Given the description of an element on the screen output the (x, y) to click on. 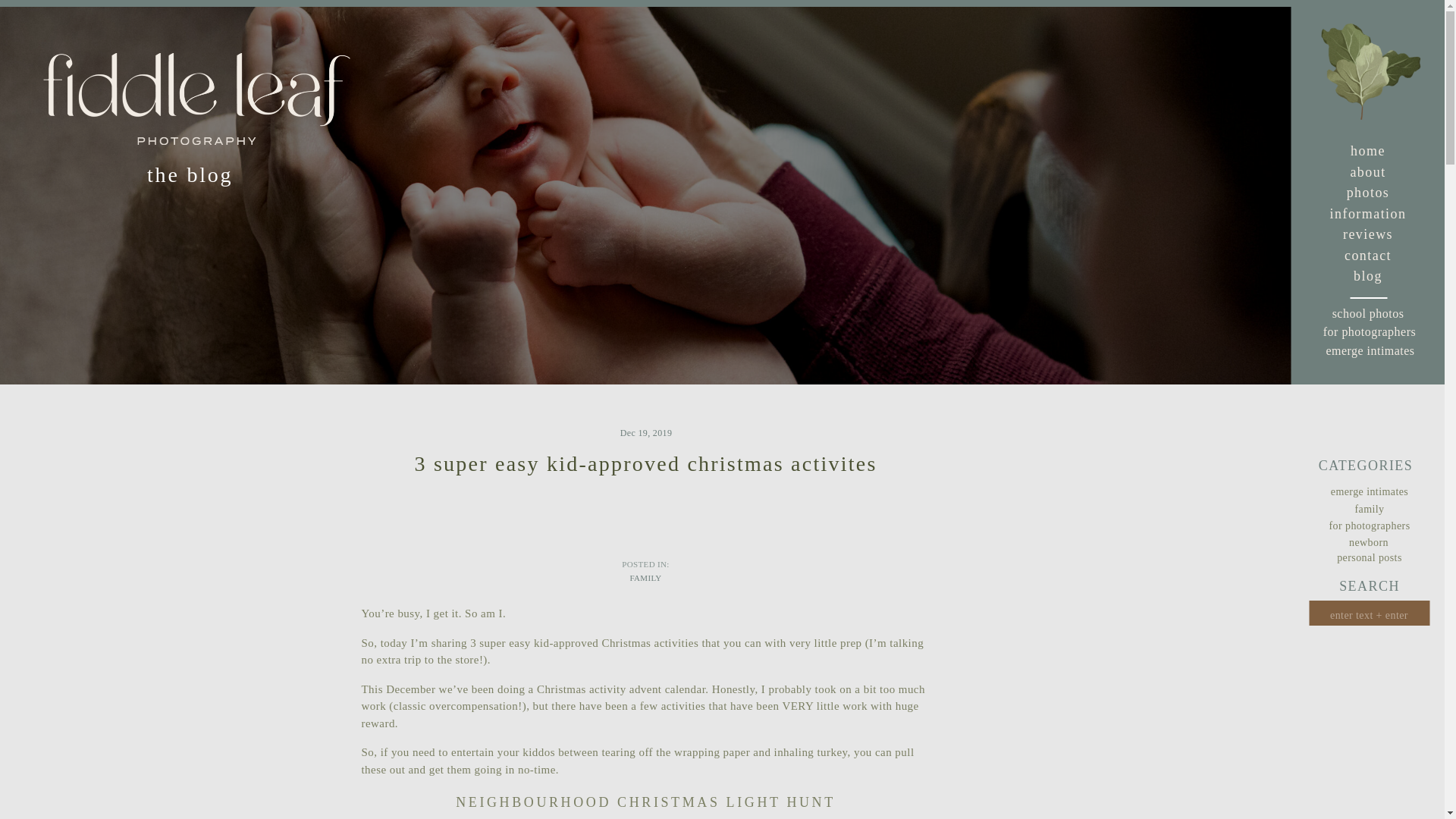
contact (1367, 255)
for photographers (1368, 526)
school photos (1367, 314)
blog (1367, 275)
photos (1367, 192)
information (1367, 213)
about (1367, 171)
for photographers (1368, 332)
SEARCH (1369, 585)
FAMILY (644, 577)
